Given the description of an element on the screen output the (x, y) to click on. 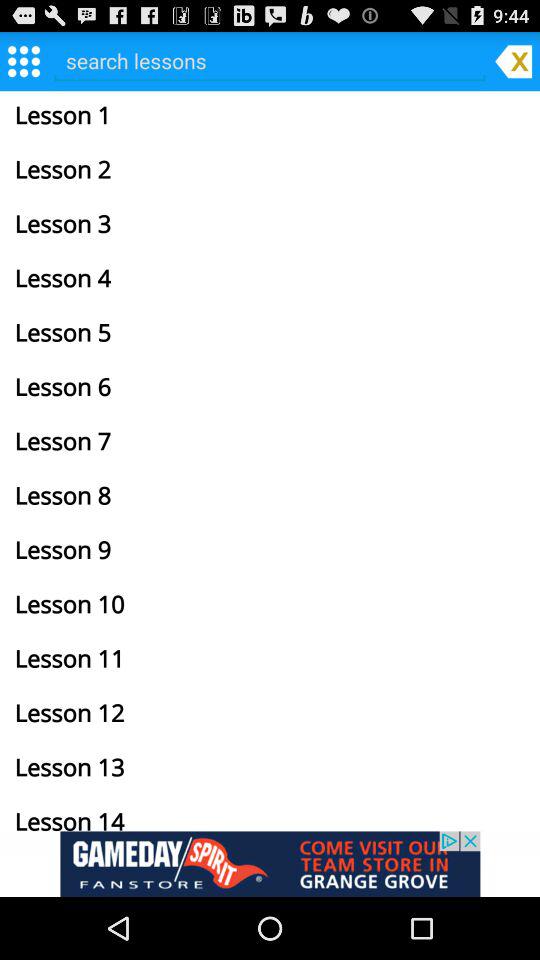
open menu (23, 60)
